Given the description of an element on the screen output the (x, y) to click on. 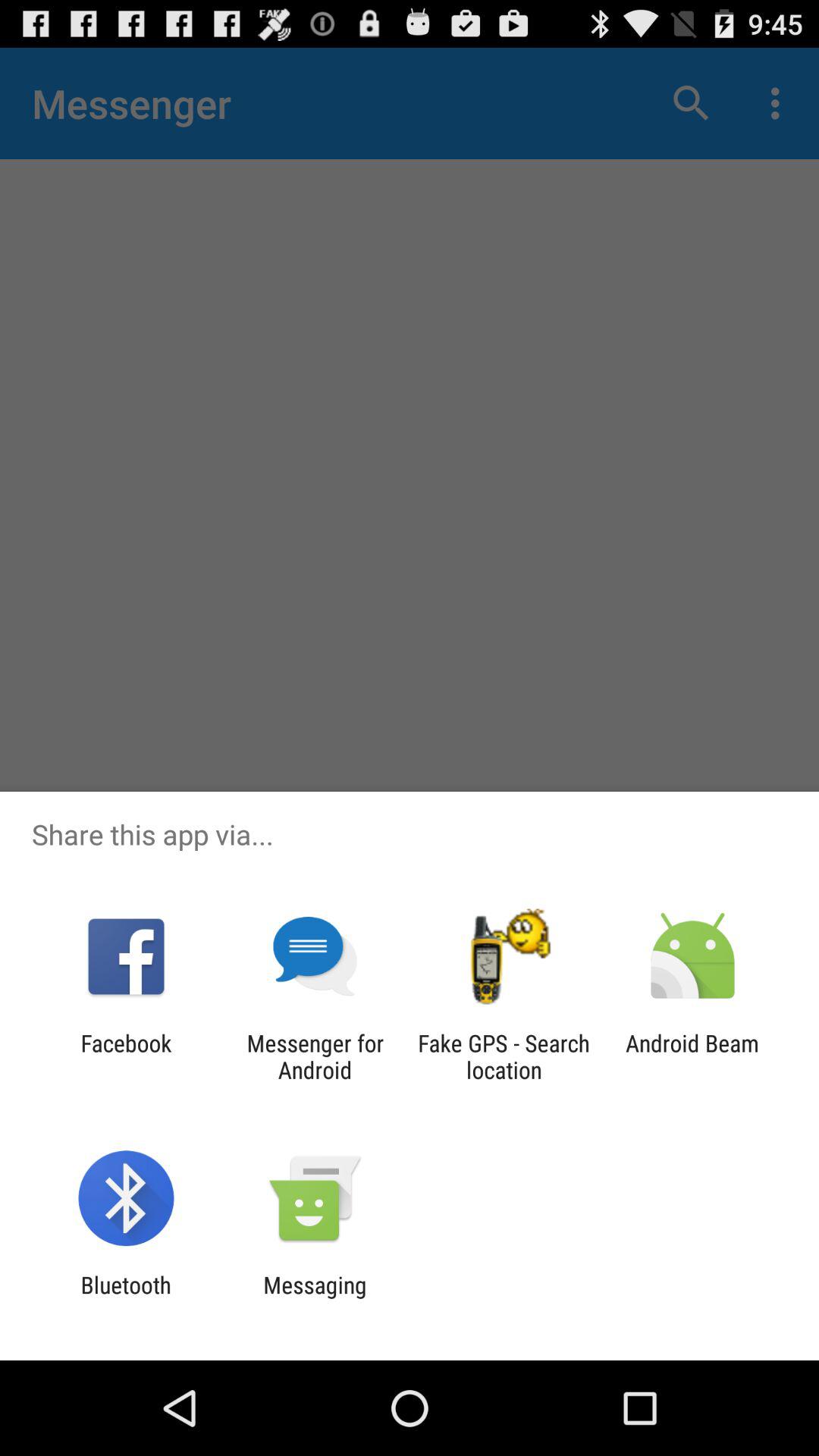
select item to the left of fake gps search icon (314, 1056)
